Given the description of an element on the screen output the (x, y) to click on. 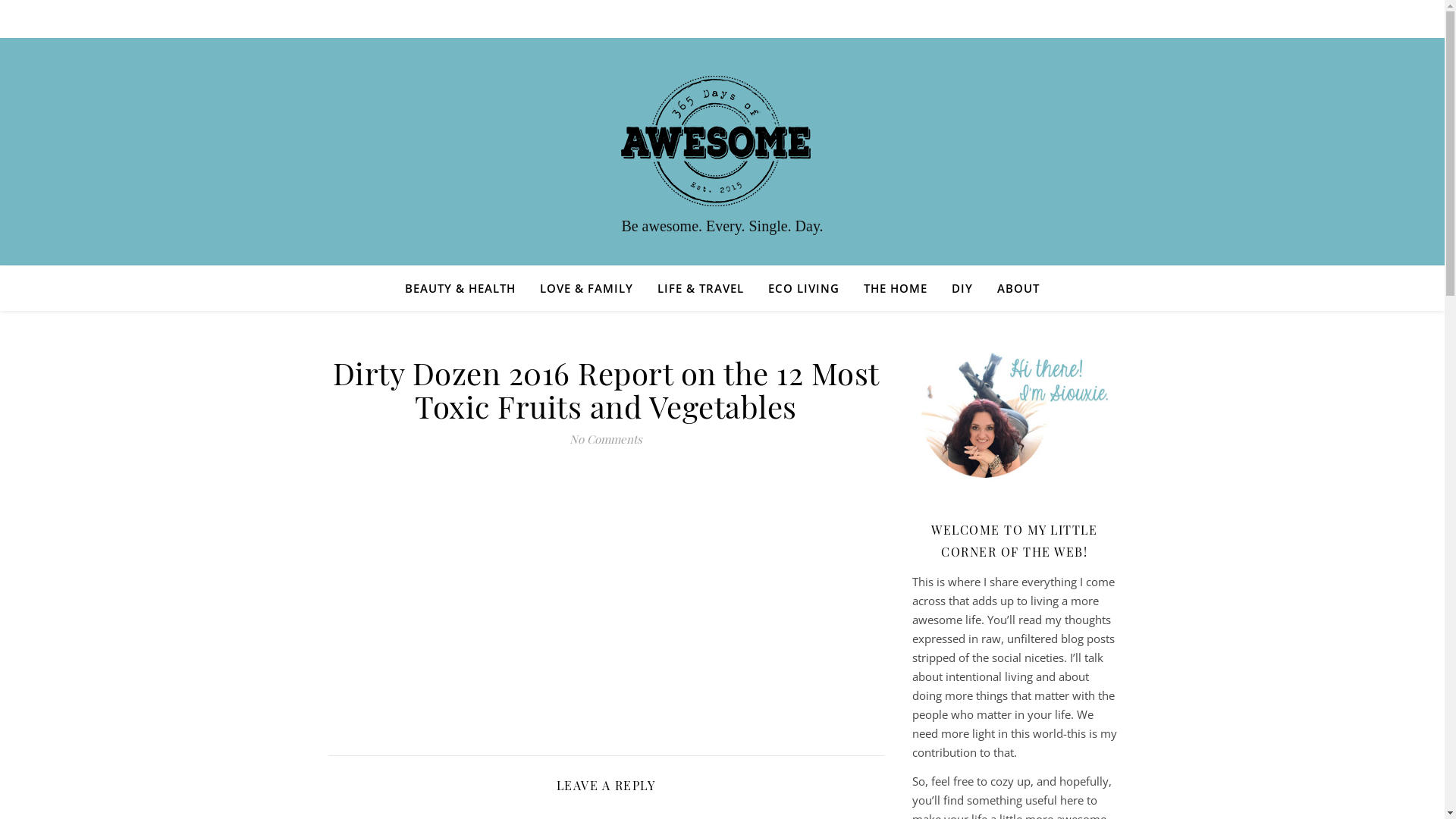
LIFE & TRAVEL Element type: text (700, 287)
DIY Element type: text (962, 287)
BEAUTY & HEALTH Element type: text (465, 287)
THE HOME Element type: text (895, 287)
ECO LIVING Element type: text (803, 287)
No Comments Element type: text (605, 438)
LOVE & FAMILY Element type: text (586, 287)
ABOUT Element type: text (1012, 287)
365 Days of Awesome Element type: hover (721, 140)
